Given the description of an element on the screen output the (x, y) to click on. 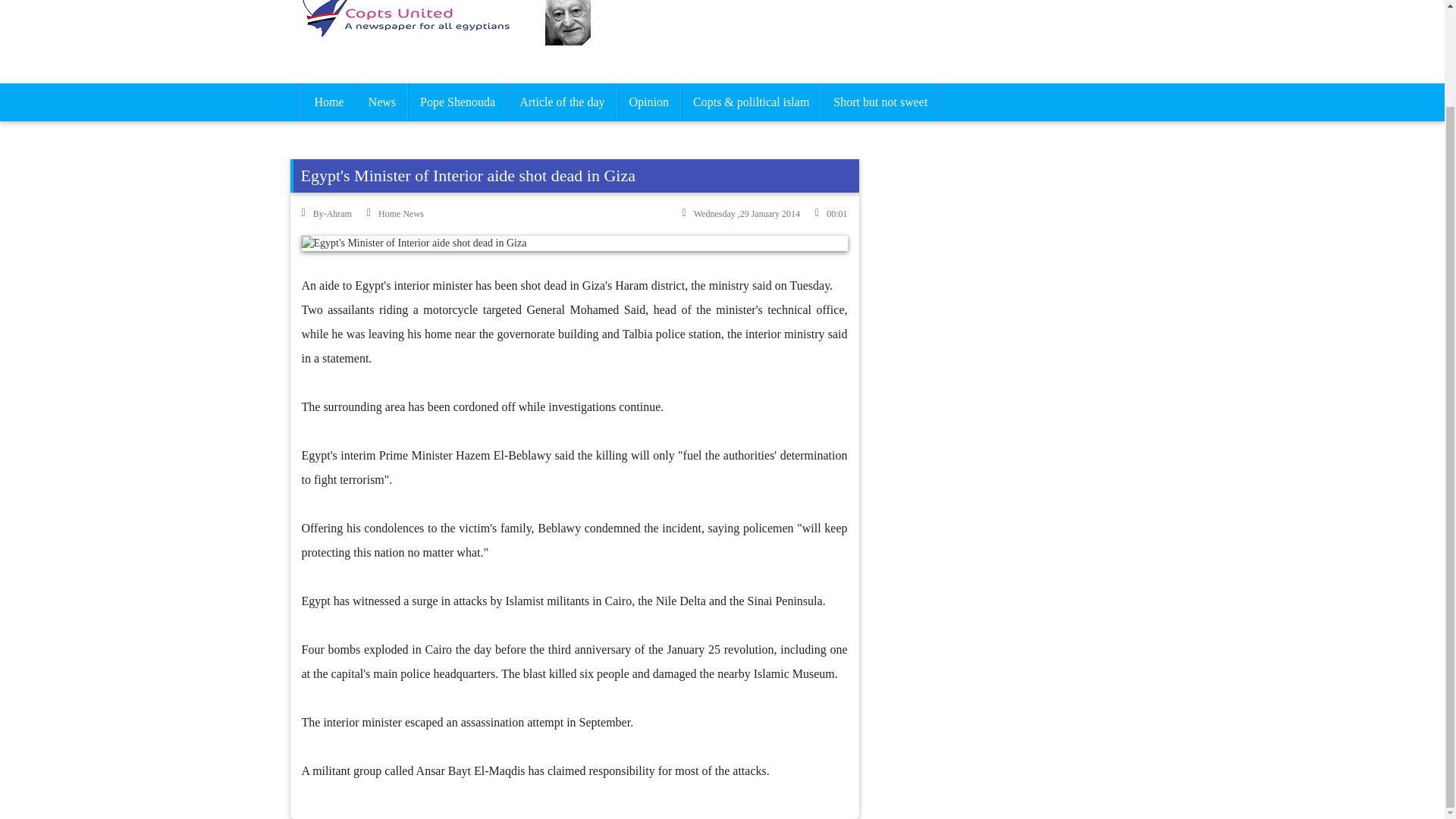
News (381, 102)
Home (328, 102)
Opinion (648, 102)
Short but not sweet (880, 102)
Article of the day (561, 102)
Pope Shenouda (457, 102)
